Given the description of an element on the screen output the (x, y) to click on. 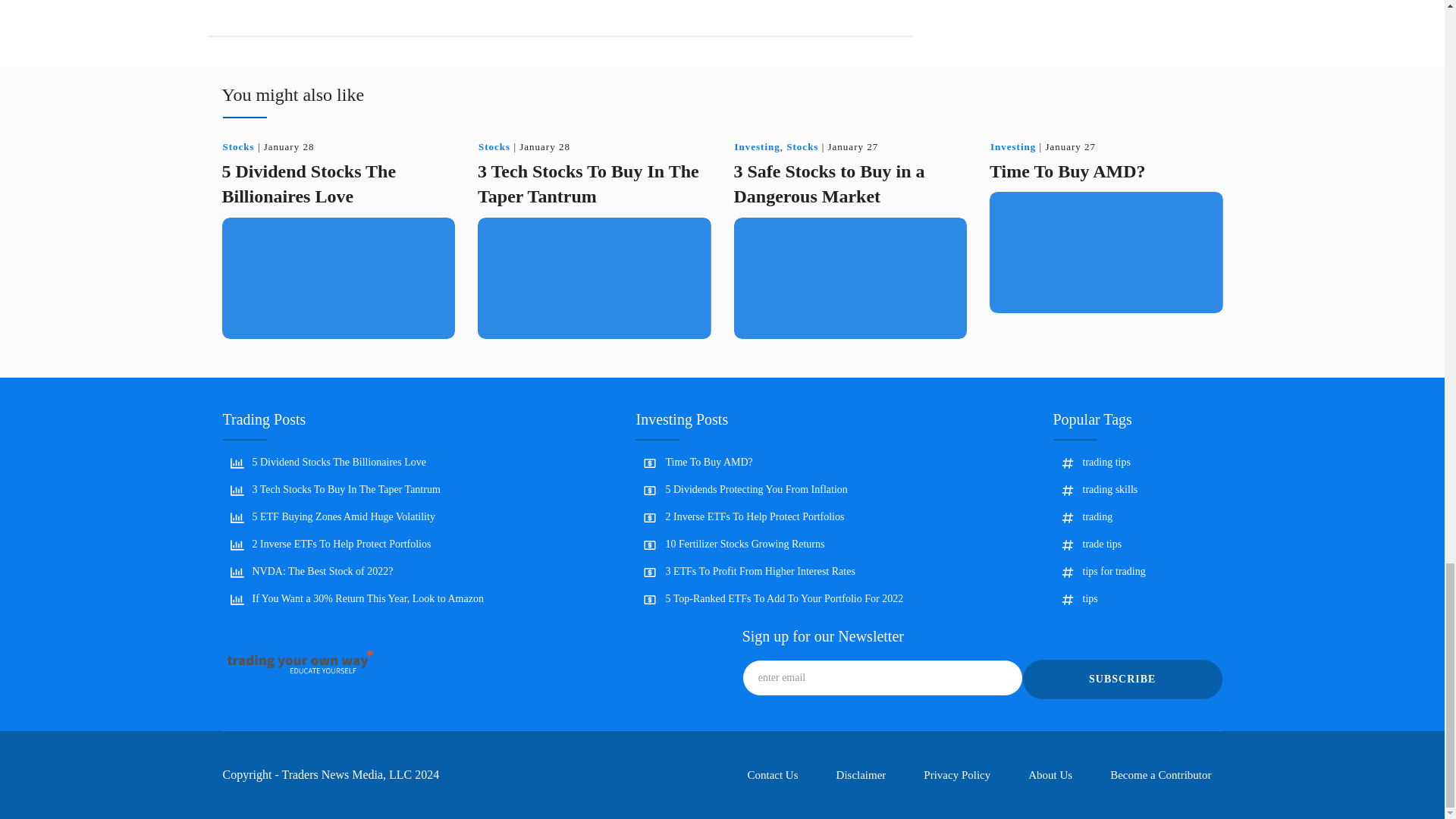
7b3893e6cab3311ee3e8cc9adc74250e (341, 2)
Stocks (238, 146)
5 Dividend Stocks The Billionaires Love (308, 184)
Stocks (238, 146)
5 Dividend Stocks The Billionaires Love (308, 184)
Stocks (495, 146)
